Given the description of an element on the screen output the (x, y) to click on. 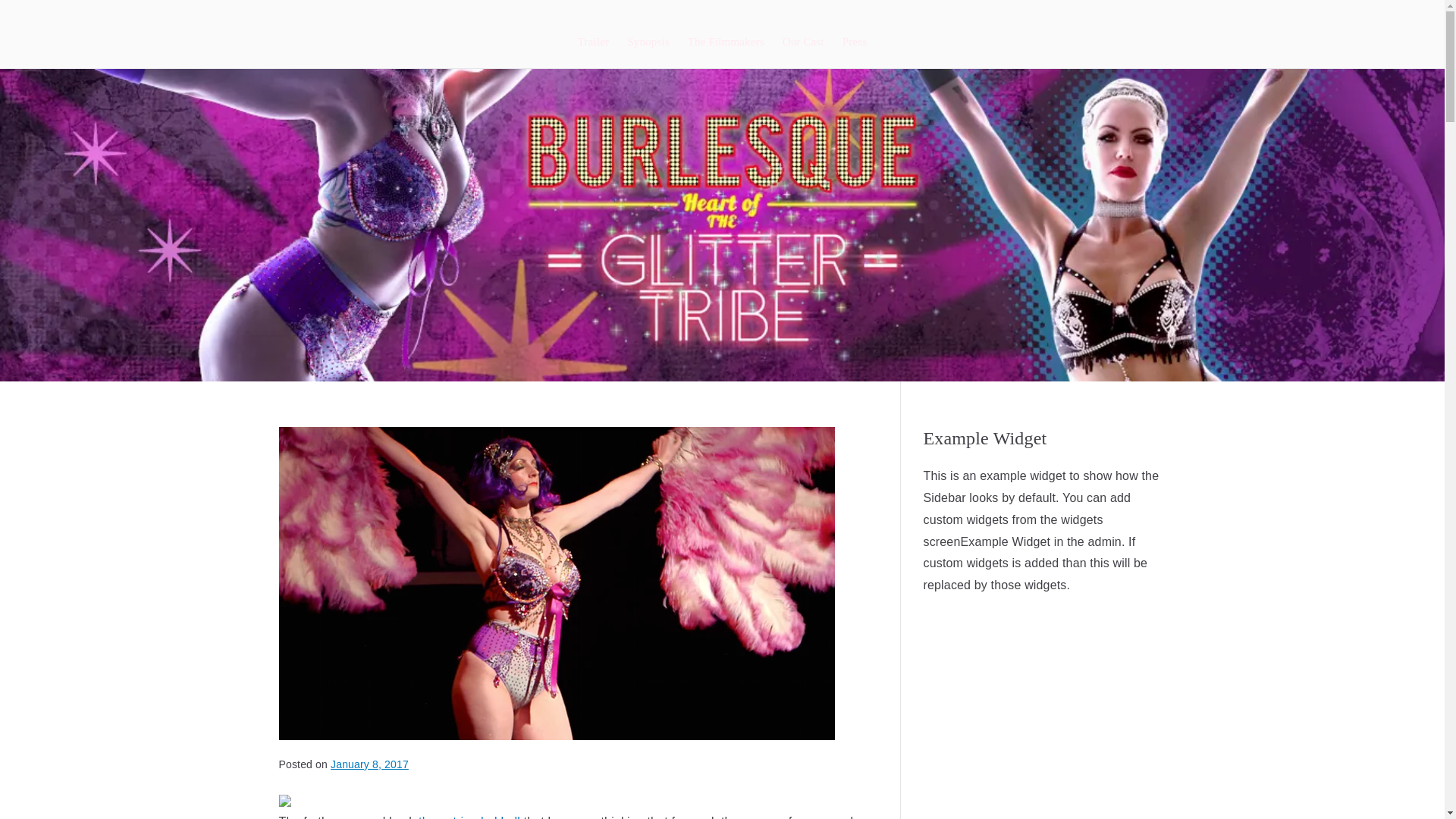
Our Cast (803, 41)
January 8, 2017 (369, 764)
Glitter Tribe The Movie (886, 34)
Press (854, 41)
Synopsis (647, 41)
the patriarchal bull (469, 816)
The Filmmakers (725, 41)
Trailer (593, 41)
